Given the description of an element on the screen output the (x, y) to click on. 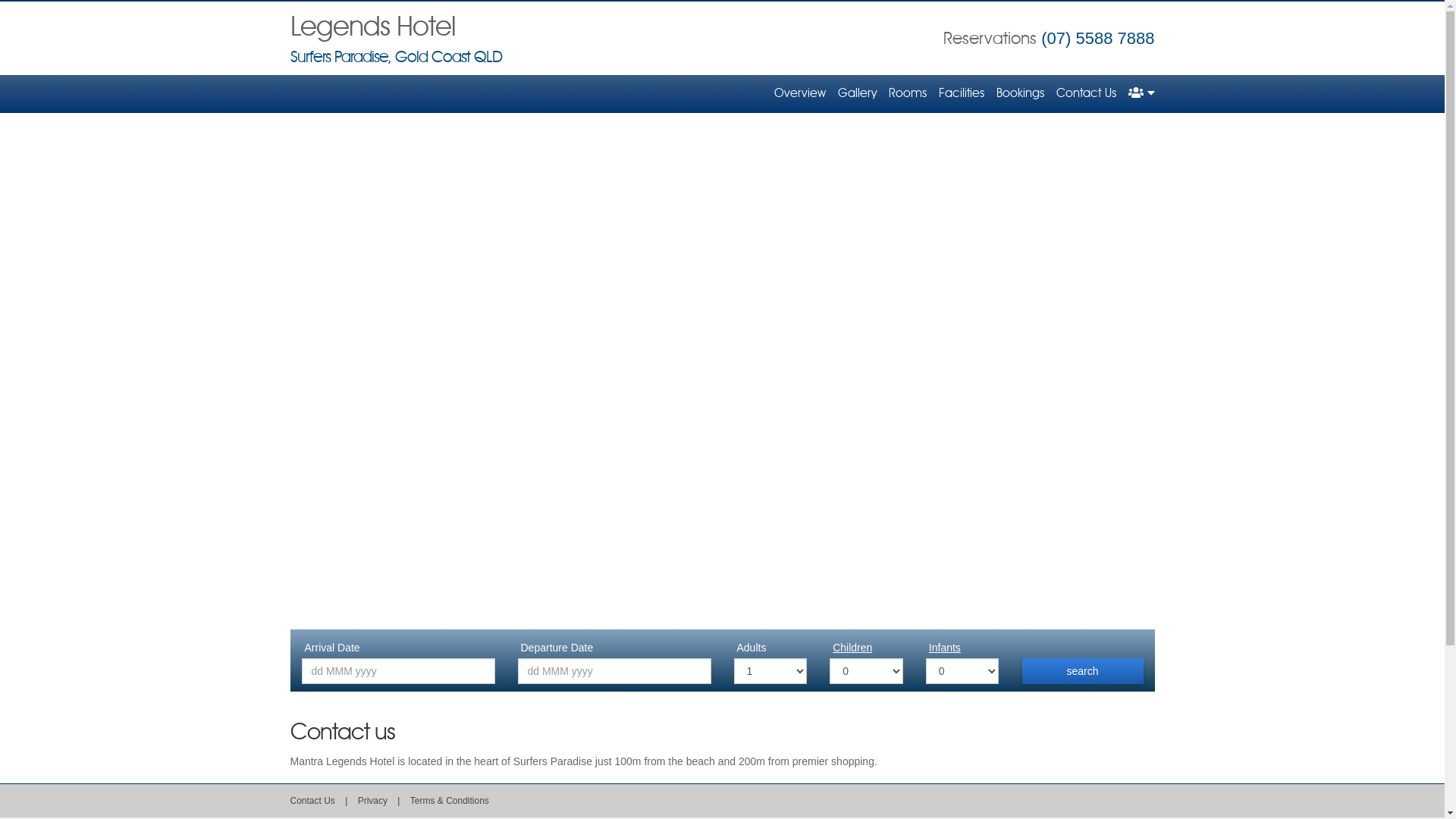
(07) 5588 7888 Element type: text (1097, 37)
Facilities Element type: text (961, 93)
Terms & Conditions Element type: text (449, 800)
Rooms Element type: text (907, 93)
Privacy Element type: text (373, 800)
search Element type: text (1082, 671)
Contact Us Element type: text (1085, 93)
Overview Element type: text (799, 93)
Bookings Element type: text (1020, 93)
Gallery Element type: text (856, 93)
Legends Hotel
Surfers Paradise, Gold Coast QLD Element type: text (395, 40)
Contact Us Element type: text (311, 800)
